Given the description of an element on the screen output the (x, y) to click on. 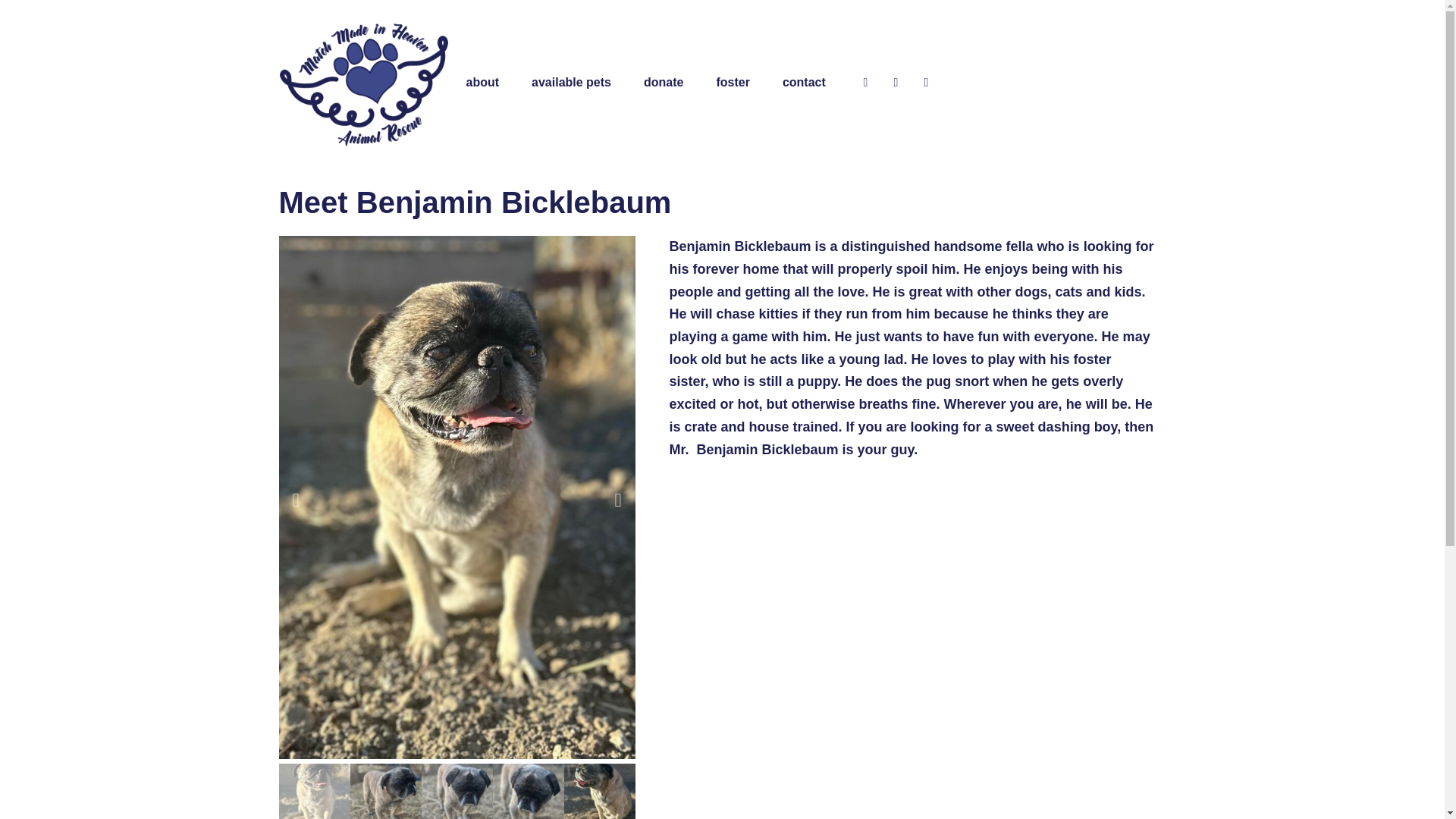
about (482, 82)
donate (662, 82)
Next (617, 499)
Contact (803, 82)
Foster (732, 82)
Donate (662, 82)
foster (732, 82)
contact (803, 82)
Previous (295, 499)
Available Pets (571, 82)
available pets (571, 82)
About (482, 82)
